Given the description of an element on the screen output the (x, y) to click on. 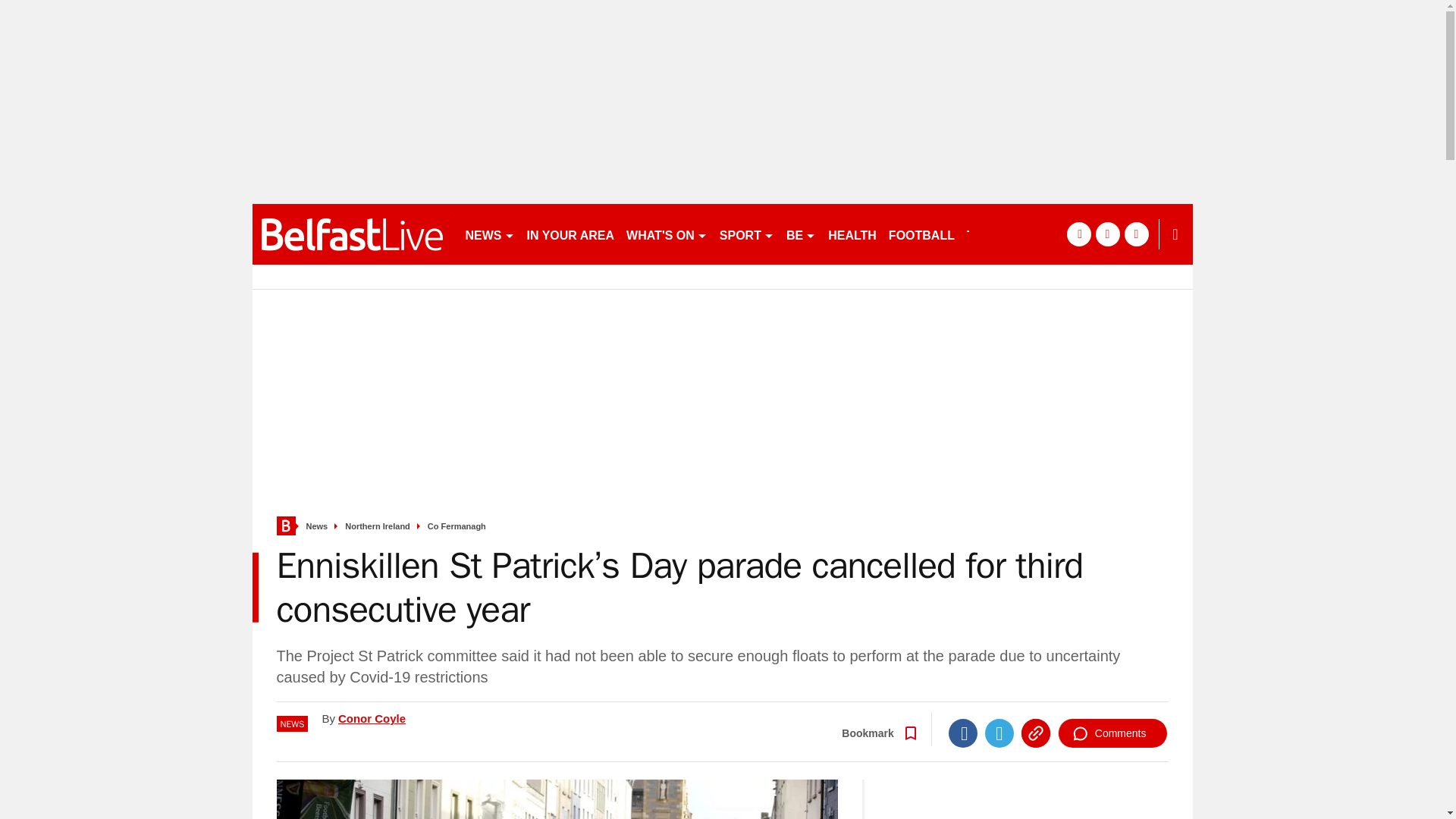
facebook (1077, 233)
IN YOUR AREA (569, 233)
Facebook (962, 733)
NEWS (490, 233)
SPORT (746, 233)
instagram (1136, 233)
belfastlive (351, 233)
Comments (1112, 733)
Twitter (999, 733)
WHAT'S ON (666, 233)
